Given the description of an element on the screen output the (x, y) to click on. 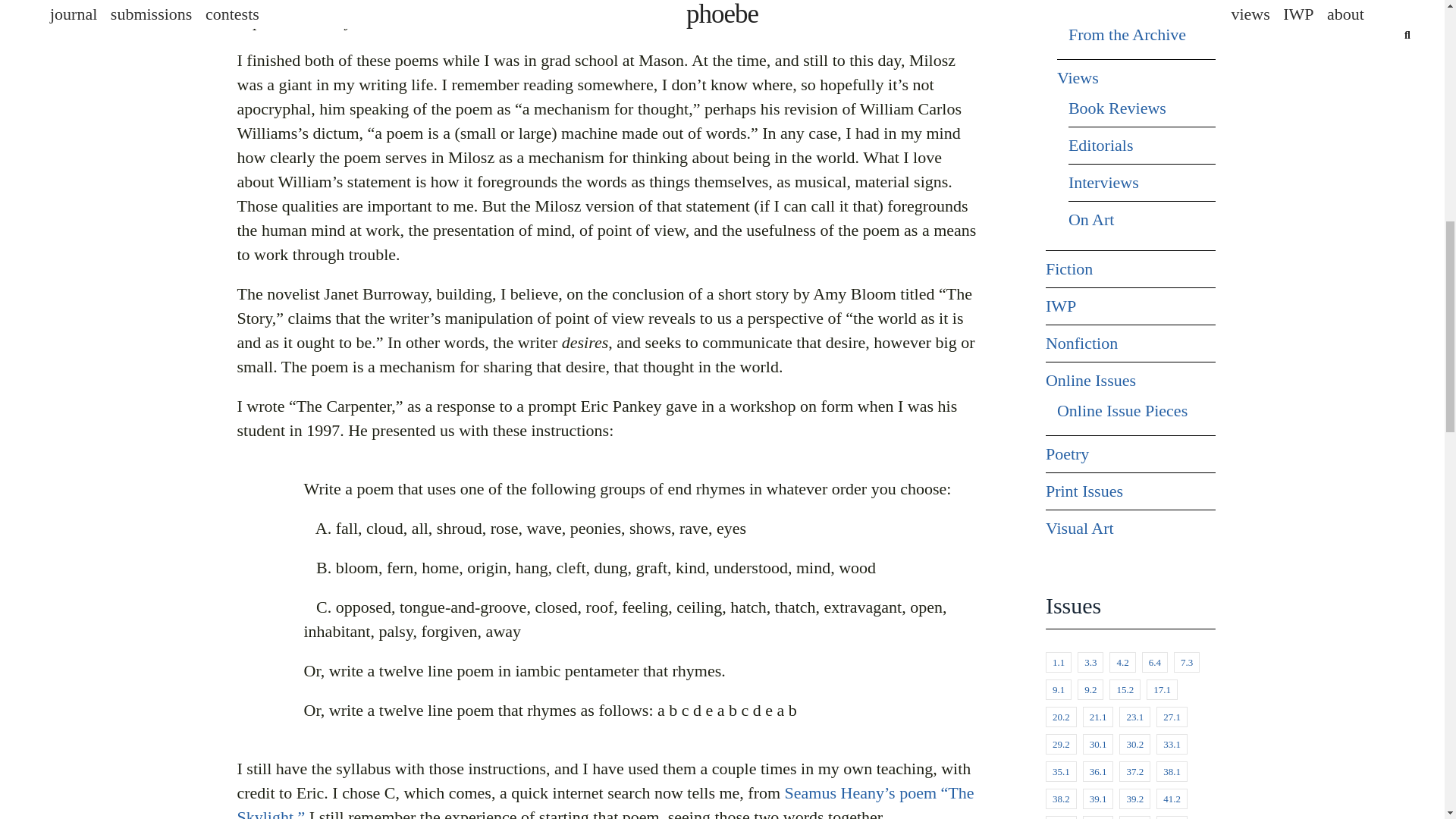
Editor Picks (1109, 4)
Editorials (1101, 145)
Poetry (1067, 454)
IWP (1060, 306)
On Art (1091, 219)
Nonfiction (1081, 343)
Fiction (1069, 269)
Views (1078, 78)
Book Reviews (1117, 108)
From the Archive (1127, 34)
Online Issue Pieces (1122, 410)
Interviews (1103, 182)
Online Issues (1090, 380)
